Given the description of an element on the screen output the (x, y) to click on. 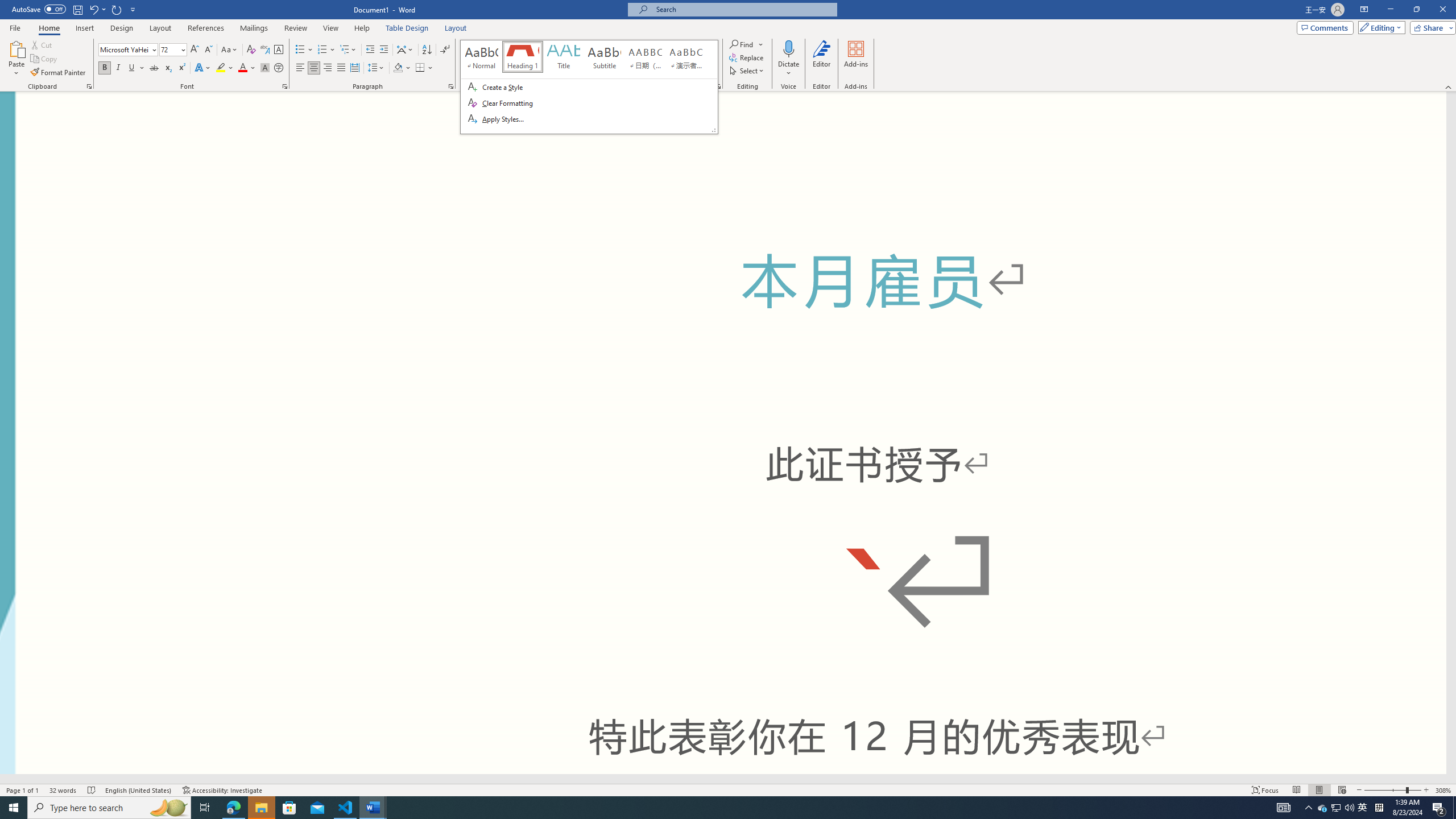
Zoom 308% (1443, 790)
Zoom (1392, 790)
Strikethrough (154, 67)
Grow Font (193, 49)
Class: MsoCommandBar (1362, 807)
Microsoft Store (728, 789)
